Given the description of an element on the screen output the (x, y) to click on. 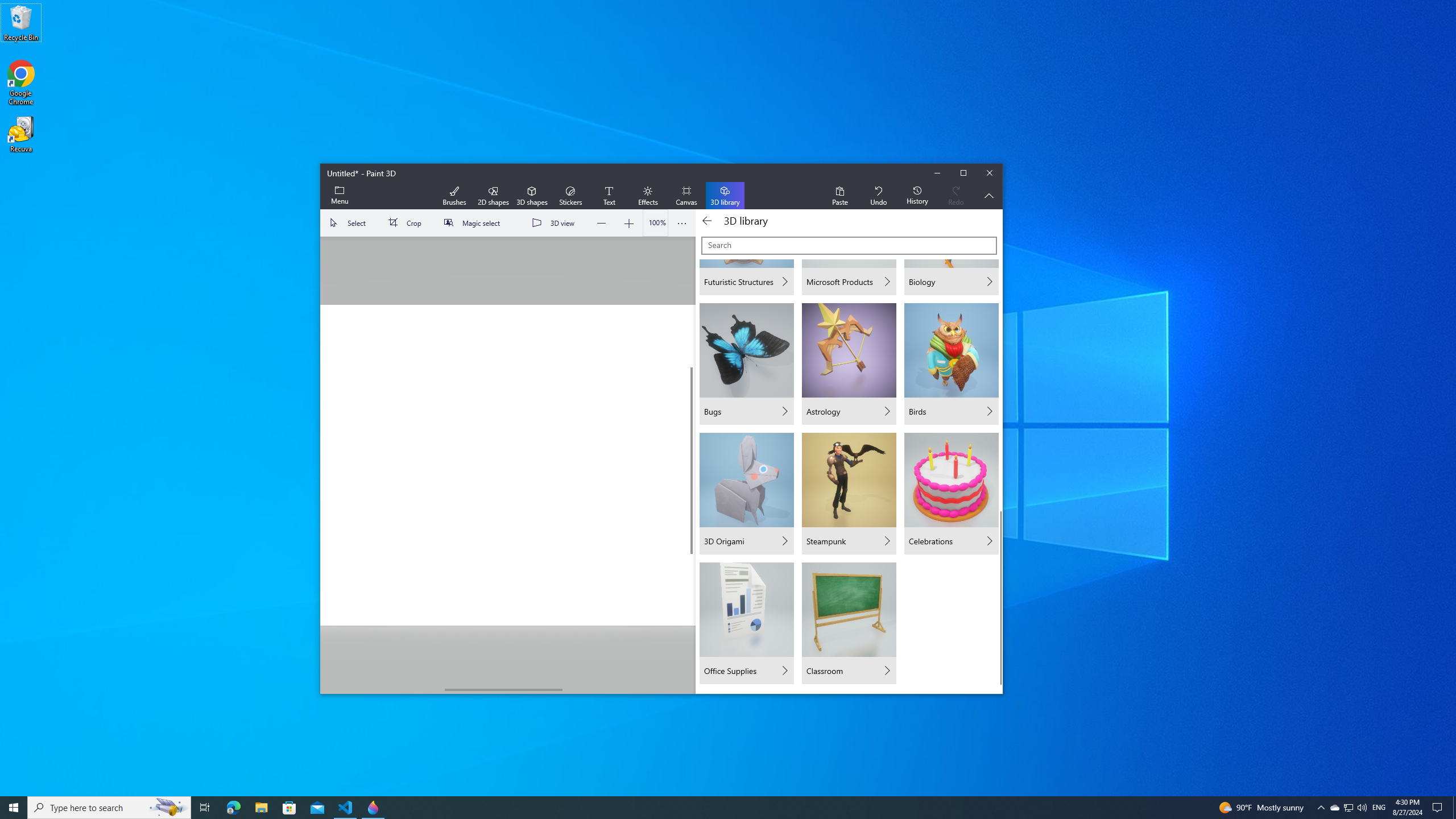
Recycle Bin (21, 22)
Paint 3D - 1 running window (373, 807)
Google Chrome (21, 82)
Recuva (21, 133)
